Given the description of an element on the screen output the (x, y) to click on. 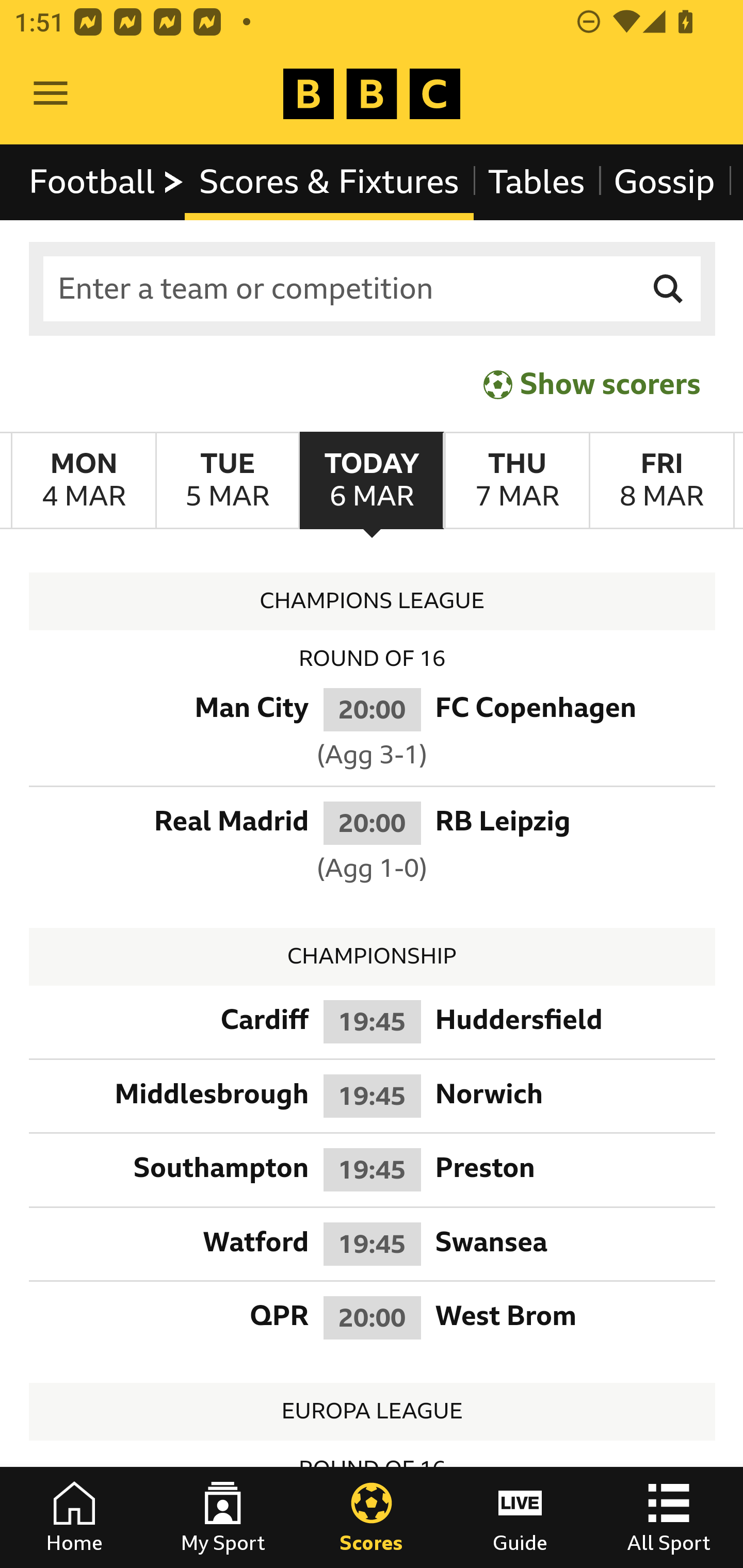
Open Menu (50, 93)
Football  (106, 181)
Scores & Fixtures (329, 181)
Tables (536, 181)
Gossip (664, 181)
Search (669, 289)
Show scorers (591, 383)
MondayMarch 4th Monday March 4th (83, 480)
TuesdayMarch 5th Tuesday March 5th (227, 480)
ThursdayMarch 7th Thursday March 7th (516, 480)
FridayMarch 8th Friday March 8th (661, 480)
Home (74, 1517)
My Sport (222, 1517)
Guide (519, 1517)
All Sport (668, 1517)
